Given the description of an element on the screen output the (x, y) to click on. 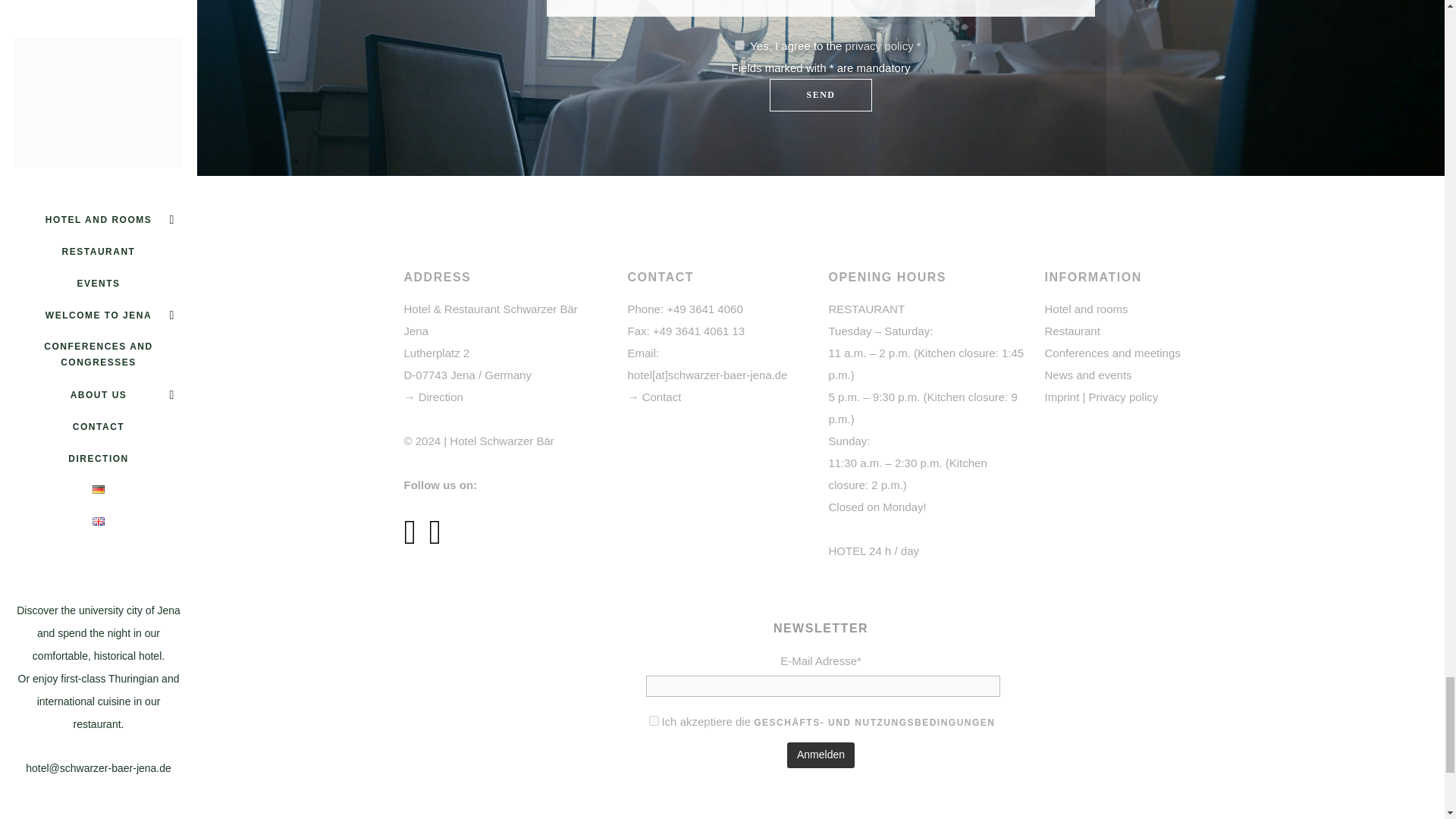
1 (739, 44)
Send (820, 94)
Anmelden (820, 755)
on (654, 720)
